Given the description of an element on the screen output the (x, y) to click on. 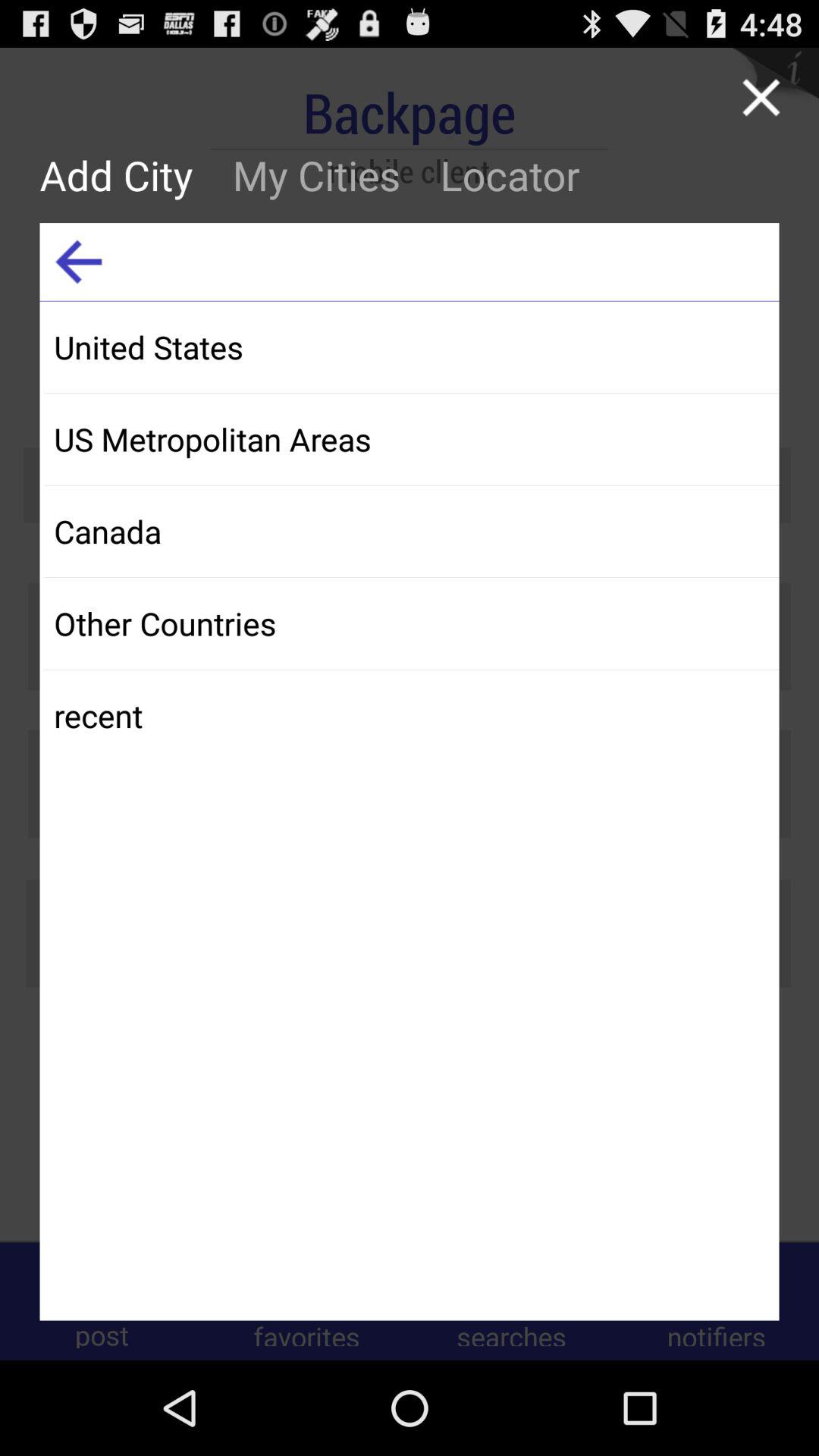
open app above canada icon (411, 438)
